Given the description of an element on the screen output the (x, y) to click on. 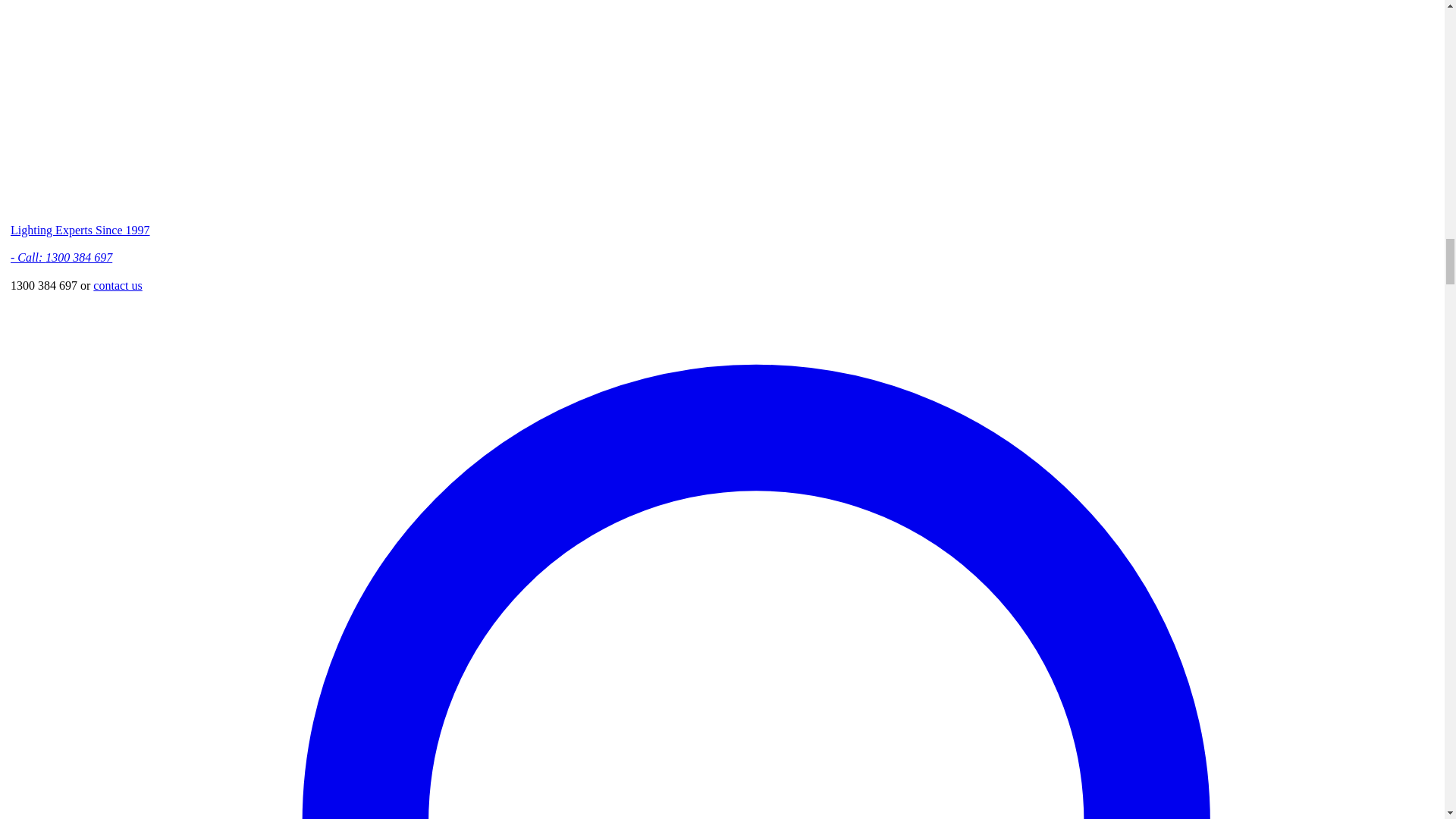
tel:1300384697 (78, 256)
1300 384 697 (78, 256)
- Call: (27, 256)
Lighting Experts Since 1997 (79, 229)
contact us (117, 285)
